Given the description of an element on the screen output the (x, y) to click on. 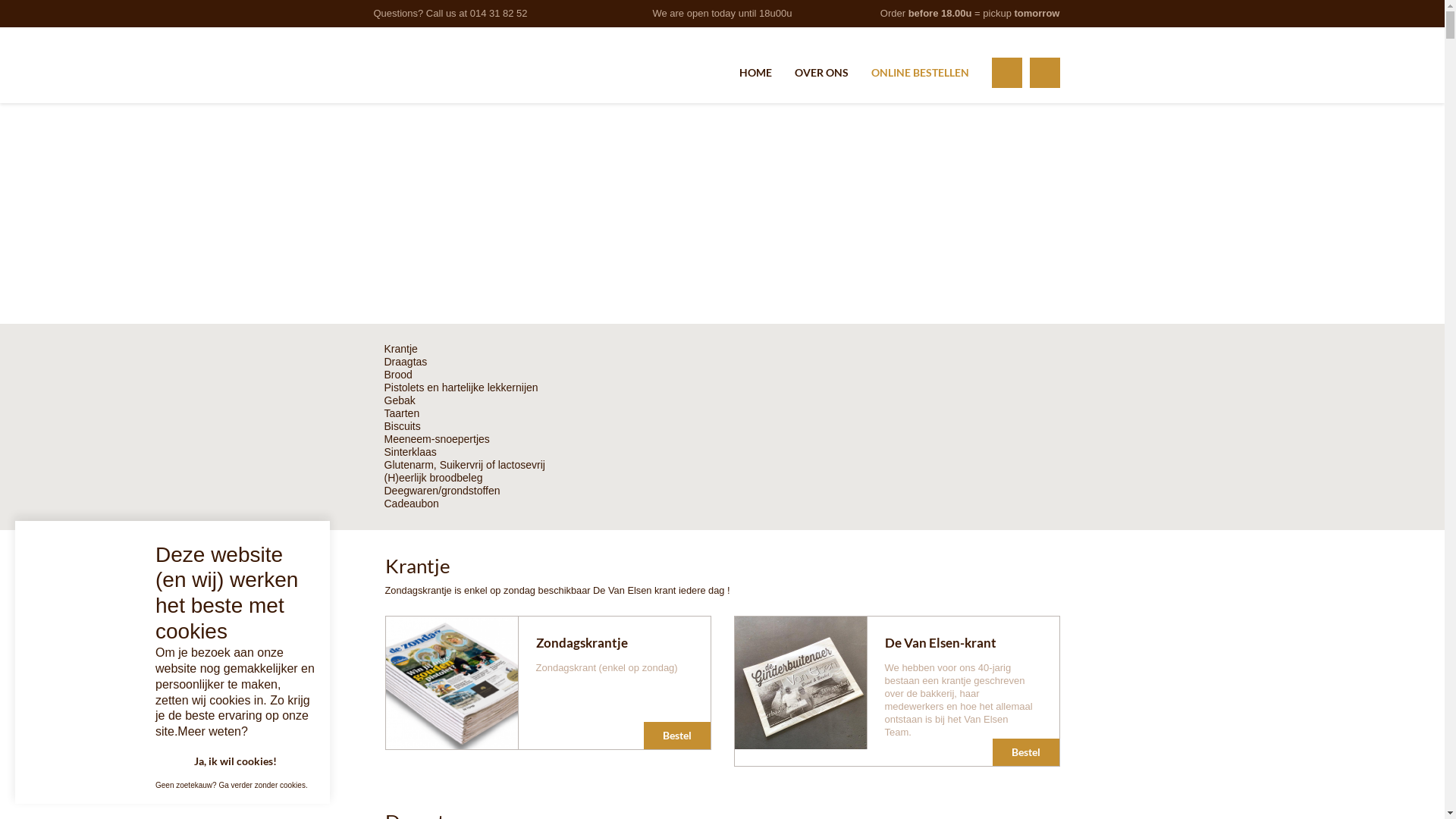
Sinterklaas Element type: text (409, 451)
Glutenarm, Suikervrij of lactosevrij Element type: text (463, 464)
Geen zoetekauw? Ga verder zonder cookies. Element type: text (231, 785)
Meeneem-snoepertjes Element type: text (436, 439)
OVER ONS Element type: text (821, 71)
ONLINE BESTELLEN Element type: text (919, 71)
Krantje Element type: text (400, 348)
Deegwaren/grondstoffen Element type: text (441, 490)
Pistolets en hartelijke lekkernijen Element type: text (460, 387)
Questions? Call us at 014 31 82 52 Element type: text (450, 12)
Draagtas Element type: text (404, 361)
Biscuits Element type: text (401, 426)
Ja, ik wil cookies! Element type: text (234, 760)
Meer weten? Element type: text (212, 732)
Brood Element type: text (397, 374)
Gebak Element type: text (398, 400)
(H)eerlijk broodbeleg Element type: text (432, 477)
HOME Element type: text (754, 71)
Taarten Element type: text (401, 413)
Cadeaubon Element type: text (410, 503)
